Given the description of an element on the screen output the (x, y) to click on. 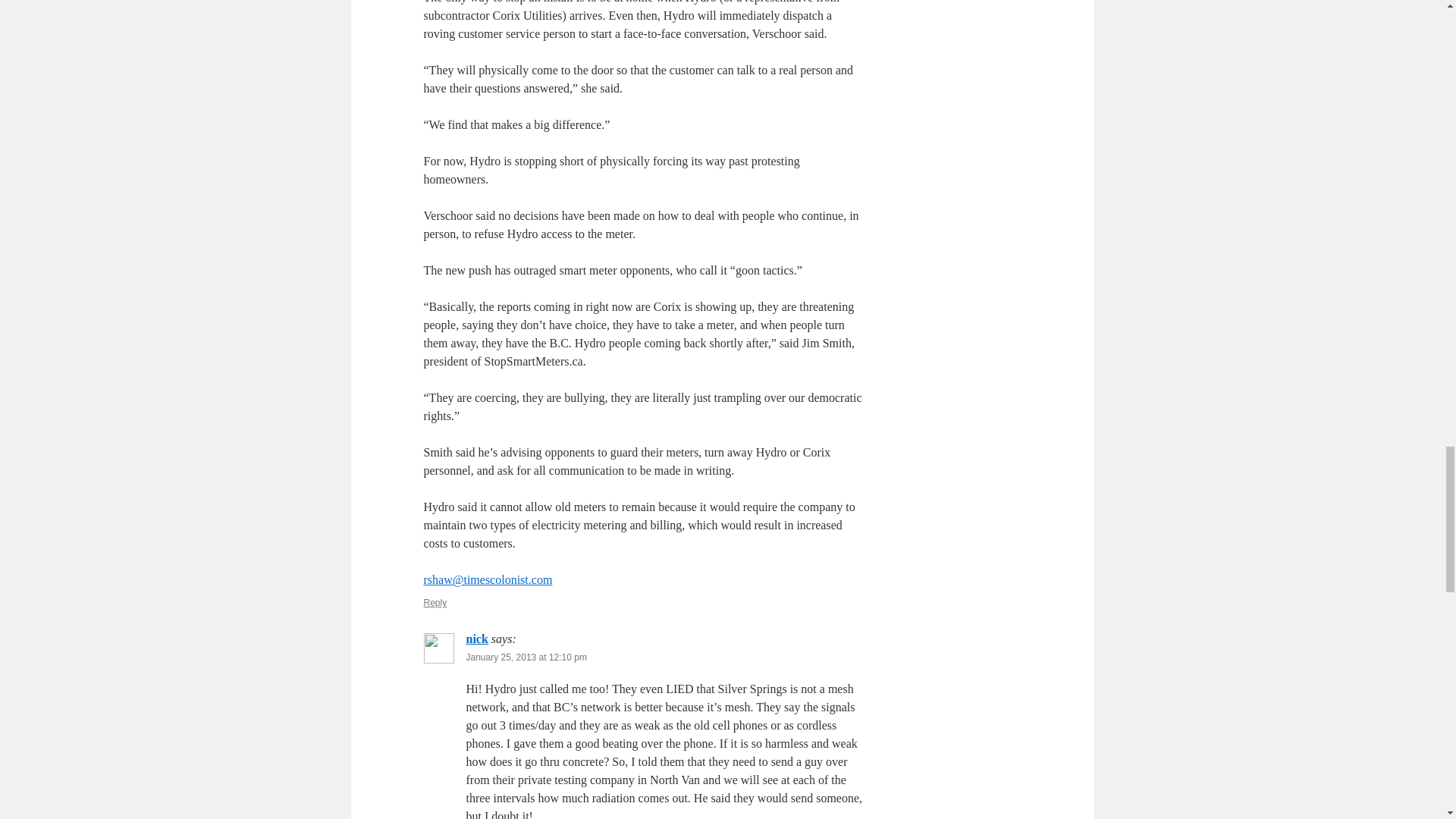
nick (476, 638)
Reply (434, 602)
January 25, 2013 at 12:10 pm (525, 656)
